Given the description of an element on the screen output the (x, y) to click on. 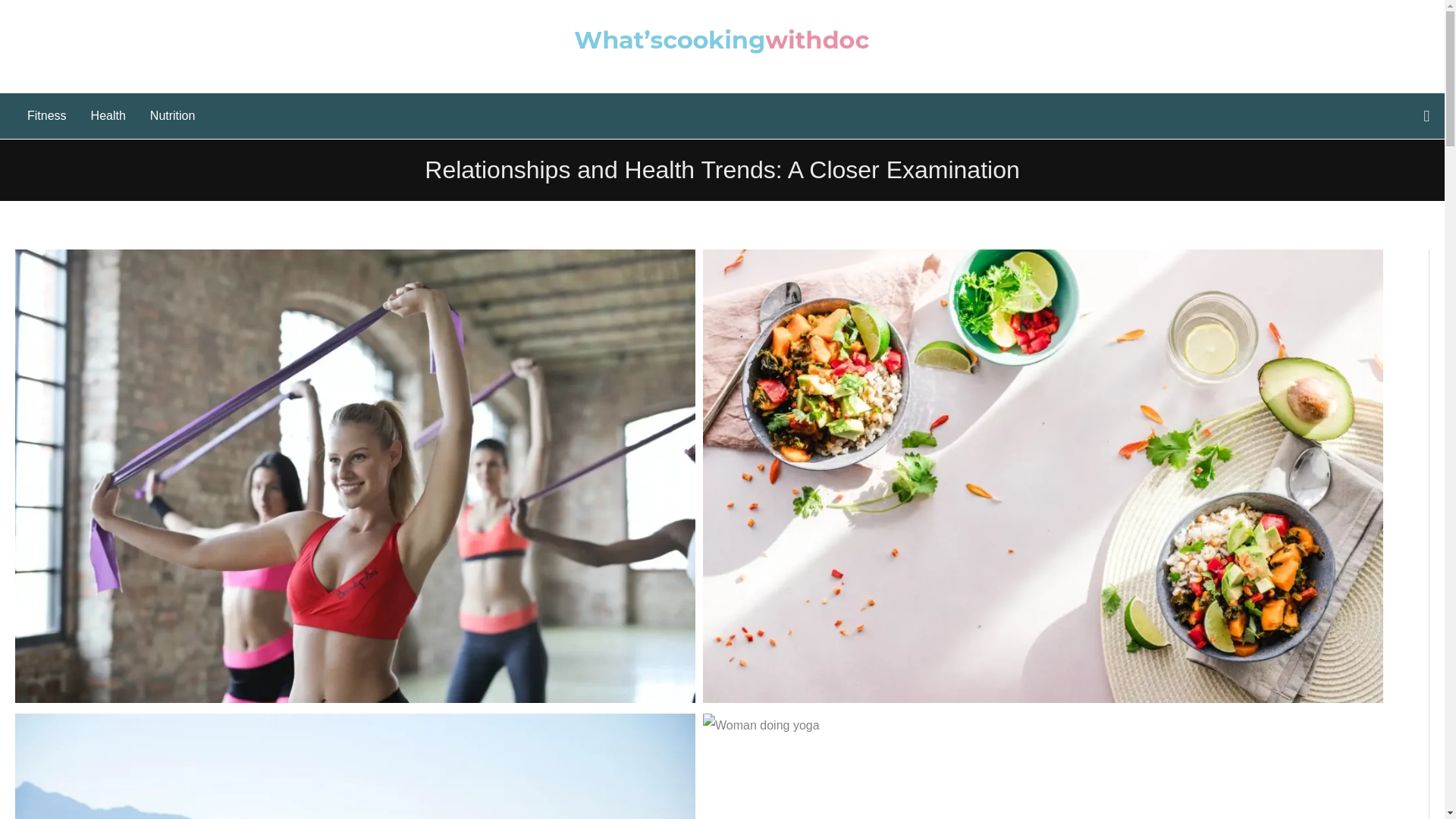
Health (108, 115)
Nutrition (173, 115)
Fitness (46, 115)
